Given the description of an element on the screen output the (x, y) to click on. 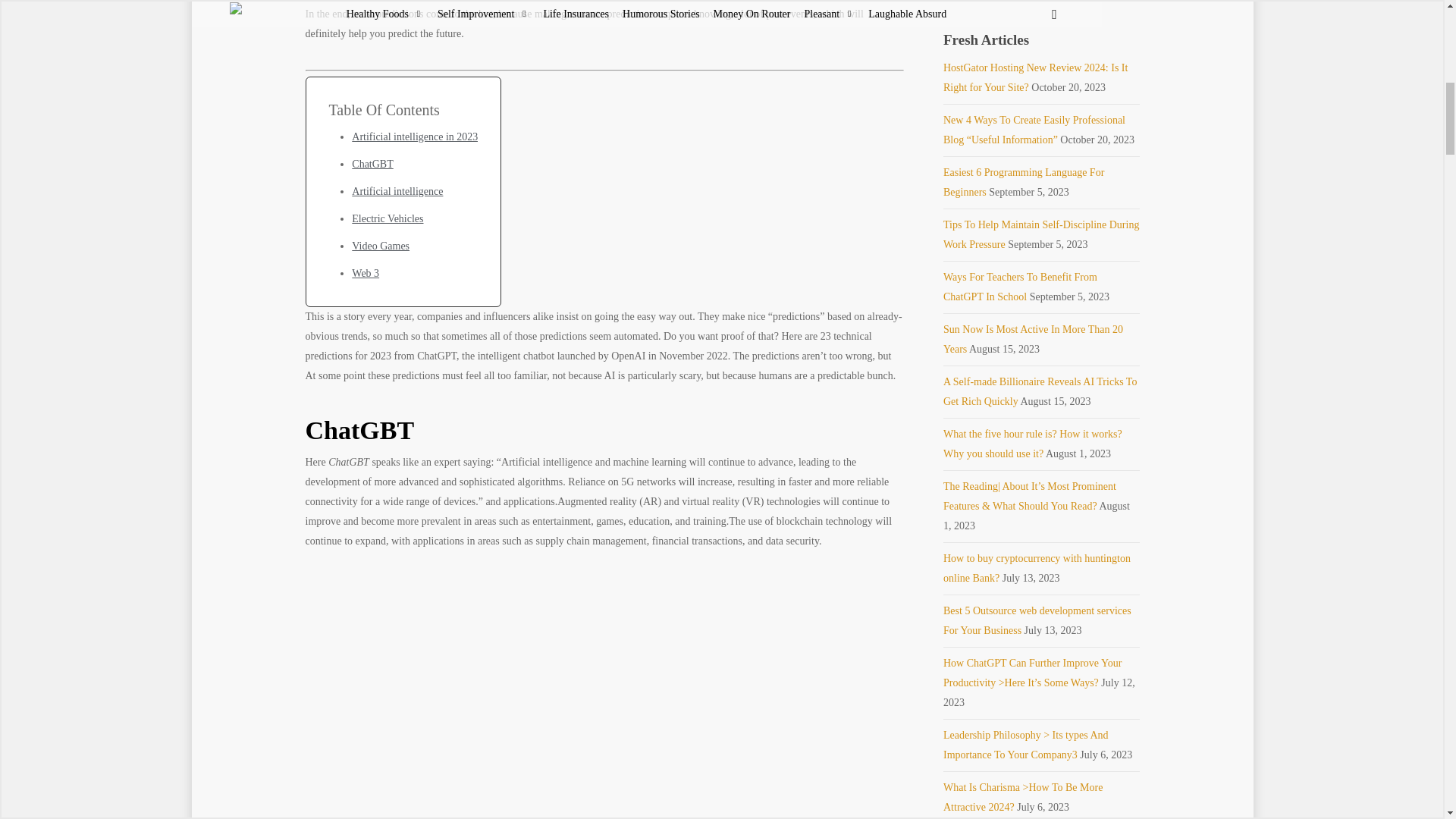
Electric Vehicles (387, 218)
Video Games (380, 245)
Web 3 (365, 273)
Artificial intelligence (397, 191)
ChatGBT (372, 163)
Artificial intelligence in 2023 (414, 136)
